Given the description of an element on the screen output the (x, y) to click on. 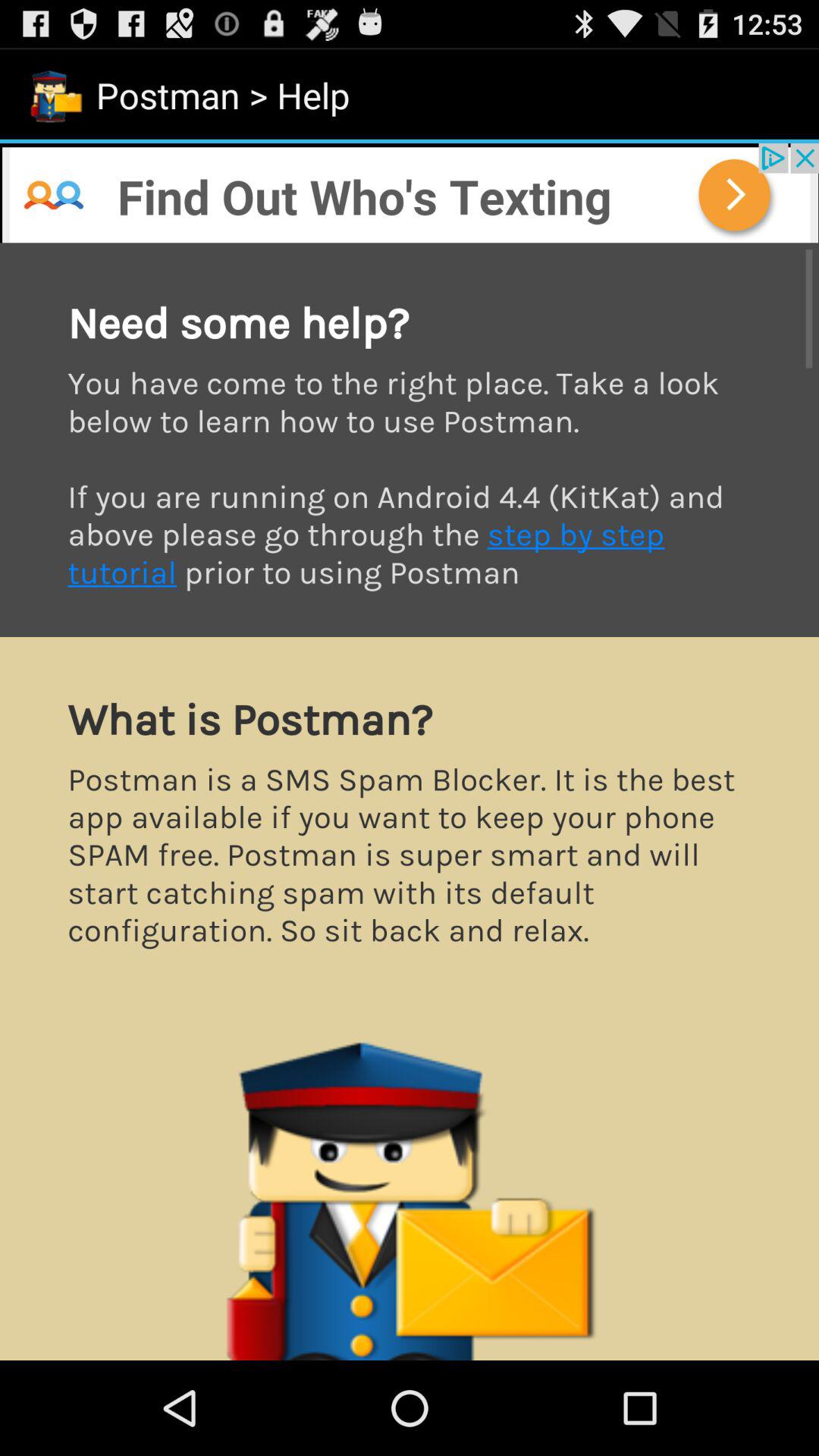
advertisement page (409, 801)
